Given the description of an element on the screen output the (x, y) to click on. 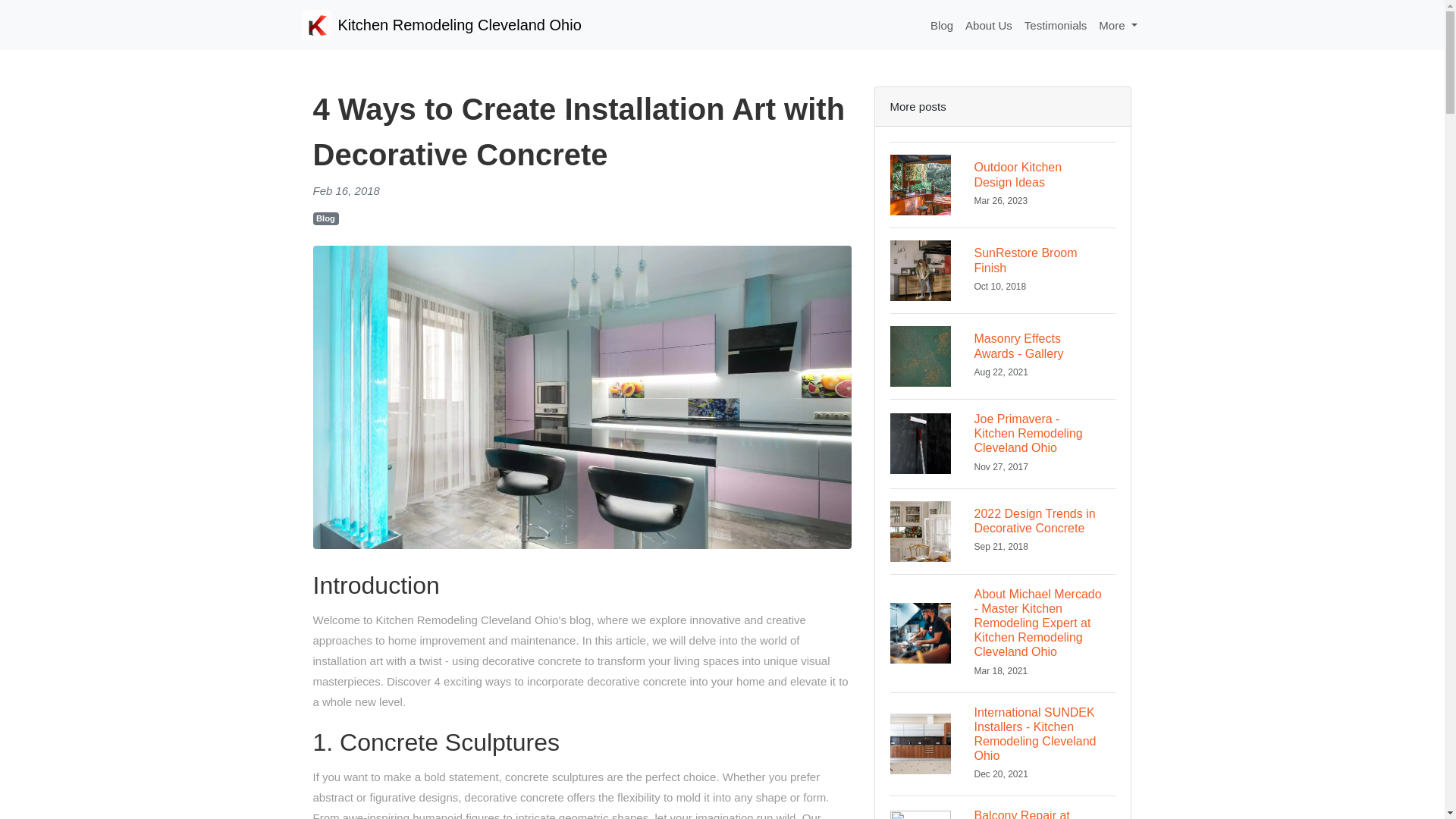
More (1117, 25)
Blog (1002, 807)
About Us (325, 218)
Testimonials (1002, 355)
Kitchen Remodeling Cleveland Ohio (988, 25)
Blog (1055, 25)
